Given the description of an element on the screen output the (x, y) to click on. 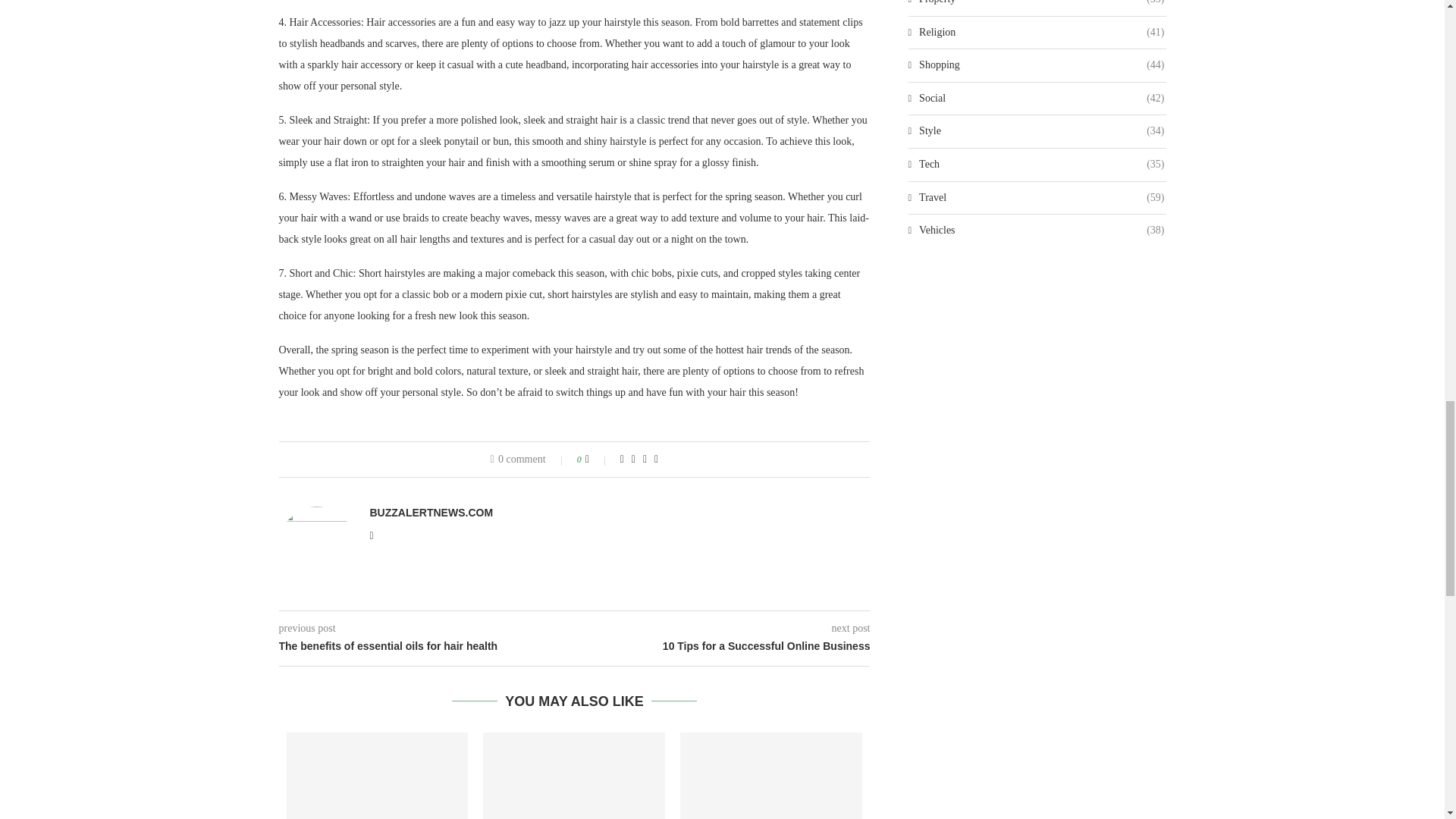
How to Achieve Beachy Waves with Seasalt Spray (574, 775)
Celebrity beauty secrets for flawless skin and hair (770, 775)
How to Master the Art of Layering (377, 775)
Like (597, 459)
Author buzzalertnews.com (431, 512)
